Given the description of an element on the screen output the (x, y) to click on. 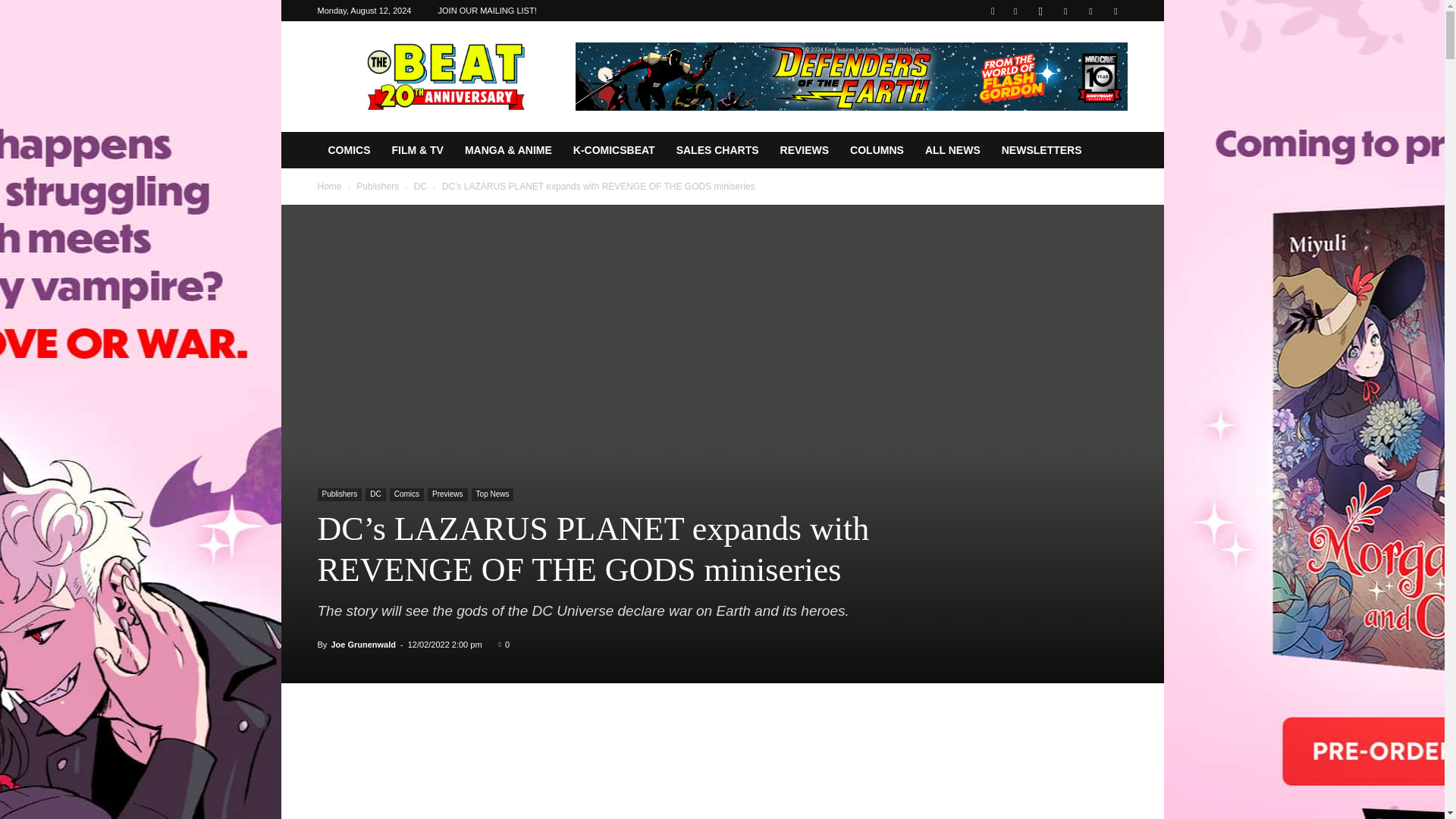
SALES CHARTS (717, 149)
REVIEWS (805, 149)
Search (1085, 64)
COLUMNS (877, 149)
View all posts in Publishers (377, 185)
Instagram (1040, 10)
NEWSLETTERS (1042, 149)
K-COMICSBEAT (613, 149)
JOIN OUR MAILING LIST! (487, 10)
COMICS (348, 149)
